Given the description of an element on the screen output the (x, y) to click on. 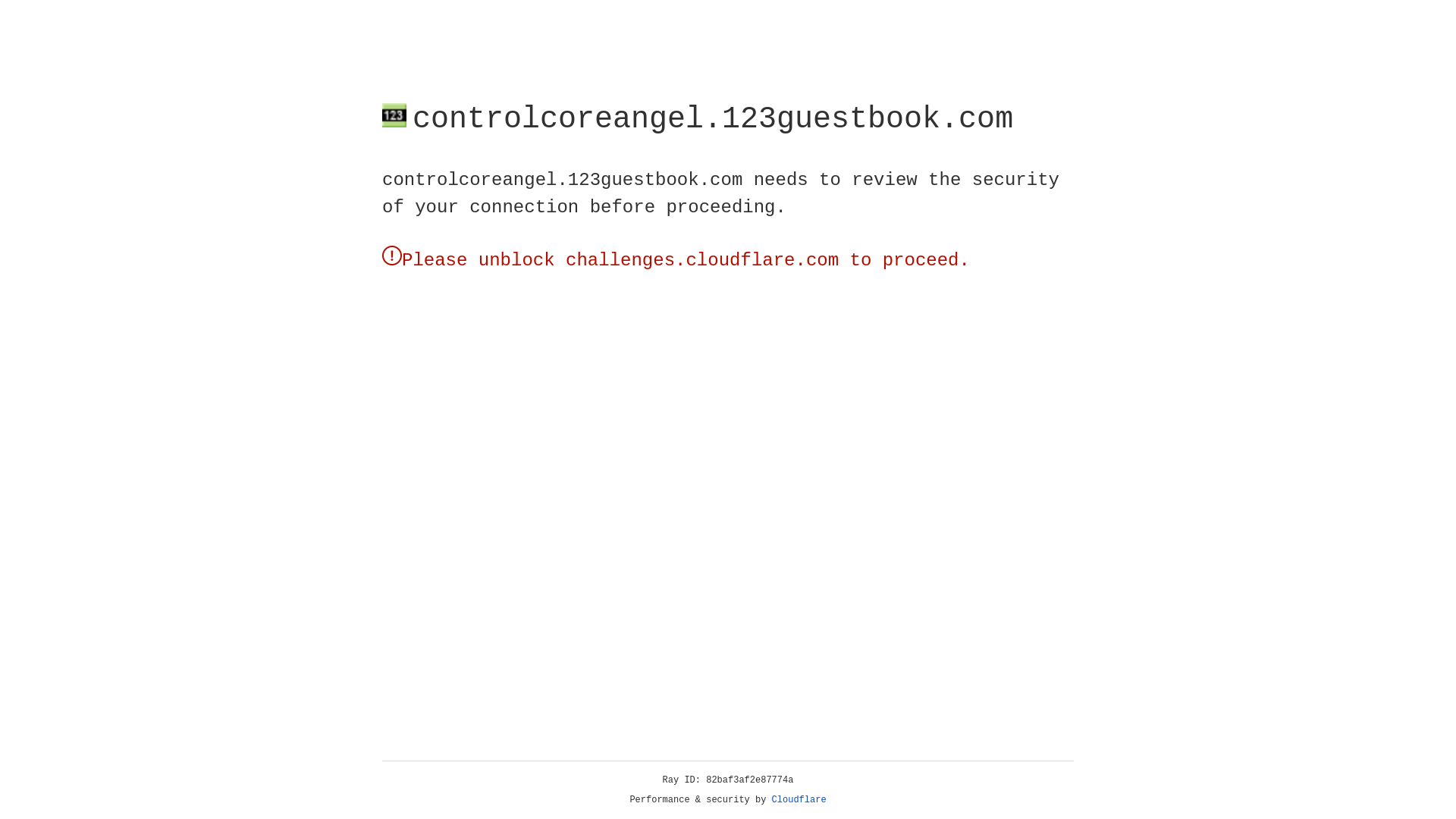
Cloudflare Element type: text (798, 799)
